Given the description of an element on the screen output the (x, y) to click on. 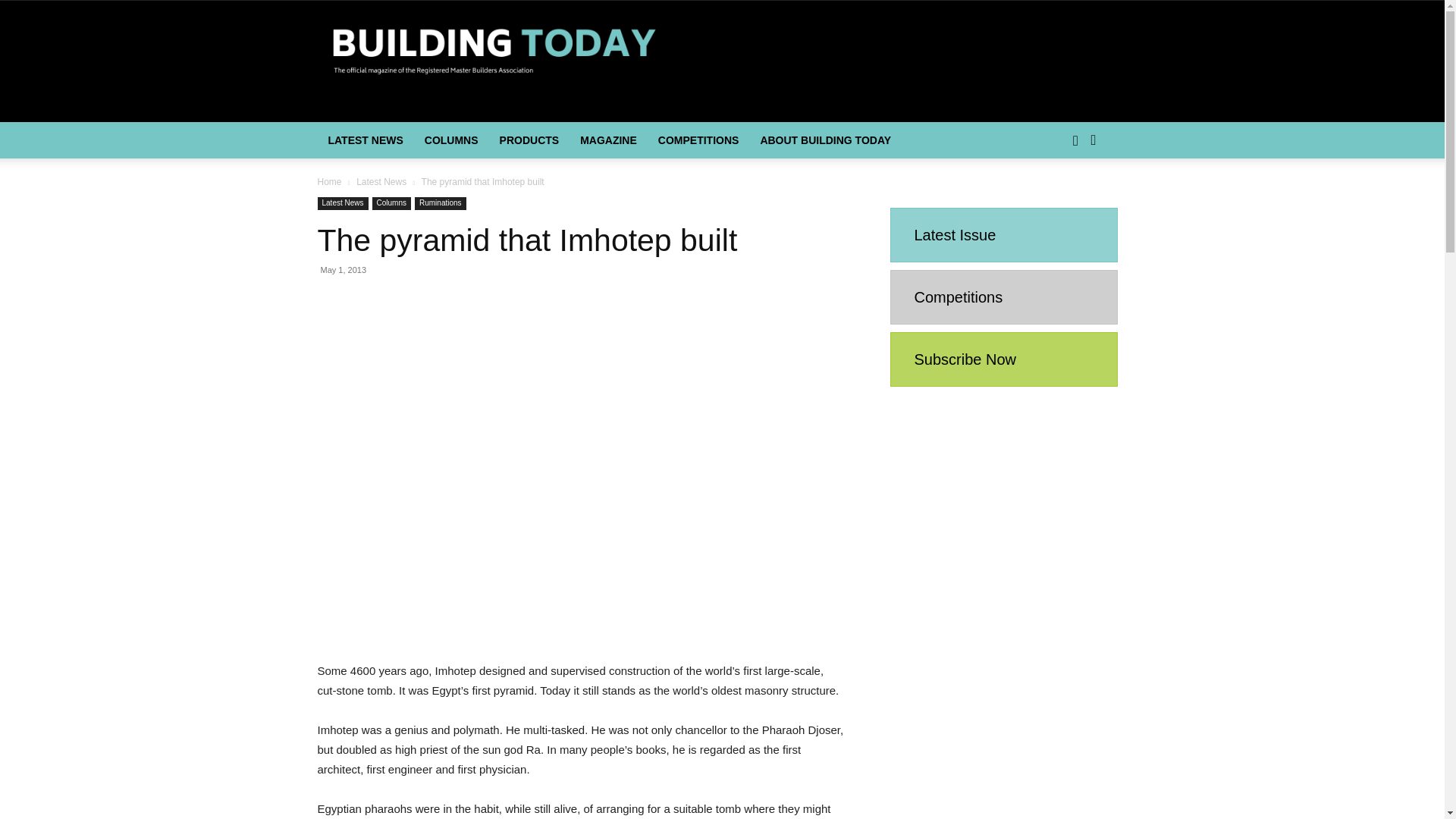
COLUMNS (451, 140)
Facebook (1075, 140)
View all posts in Latest News (381, 181)
LATEST NEWS (365, 140)
